Given the description of an element on the screen output the (x, y) to click on. 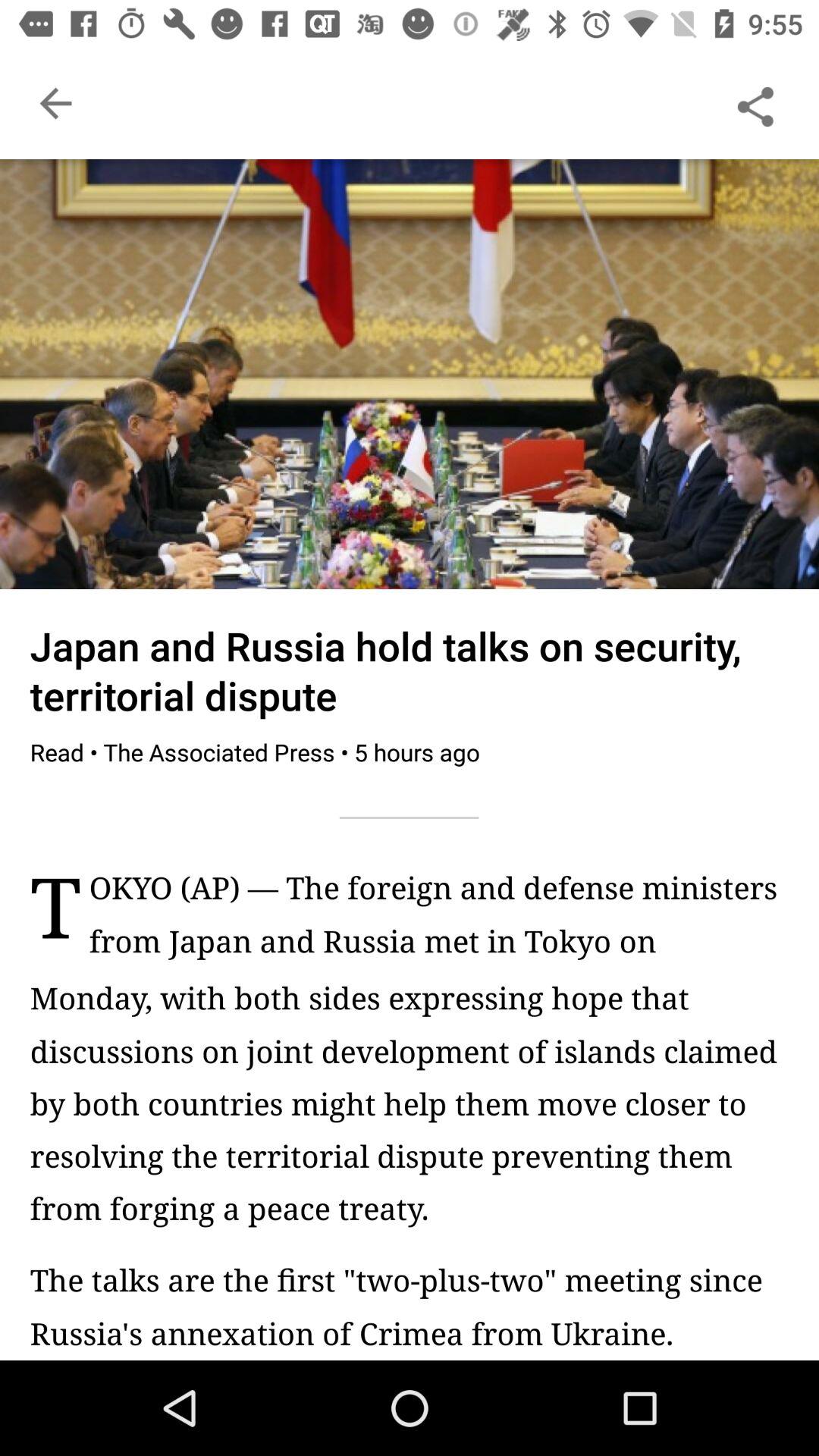
launch the okyo ap the (438, 922)
